Given the description of an element on the screen output the (x, y) to click on. 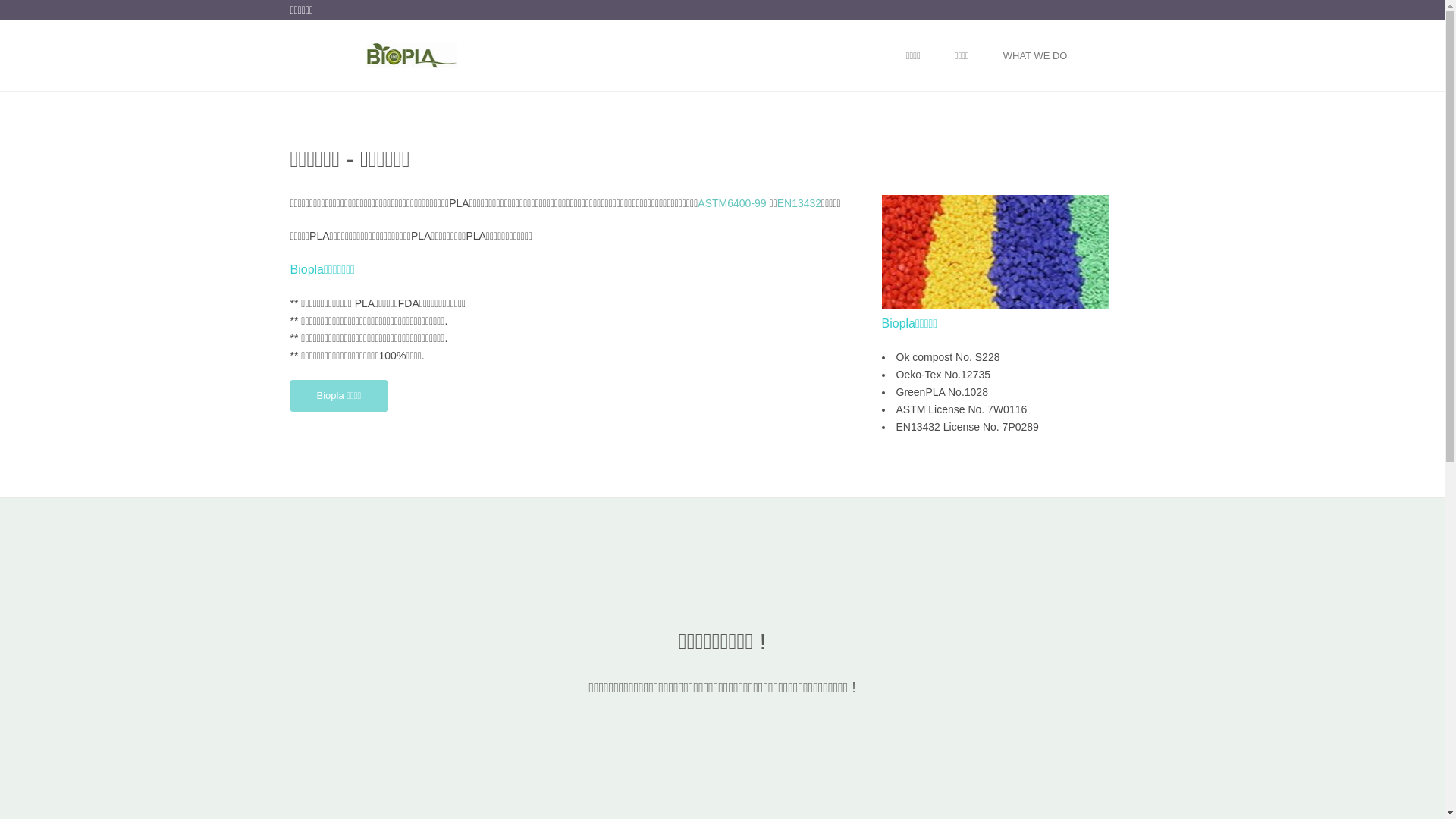
EN13432 Element type: text (799, 203)
WHAT WE DO Element type: text (1035, 55)
ASTM6400-99 Element type: text (731, 203)
